Given the description of an element on the screen output the (x, y) to click on. 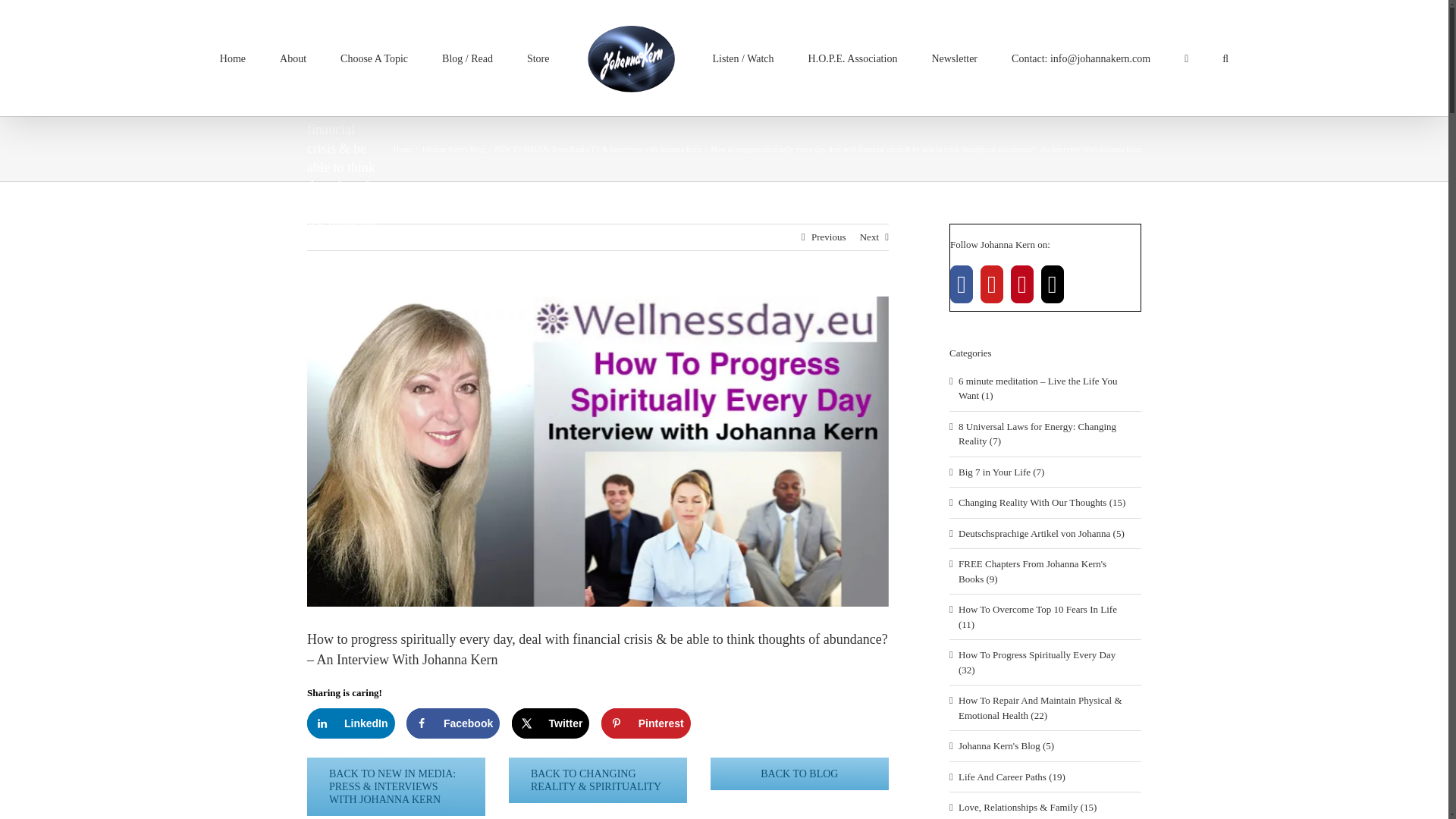
Share on LinkedIn (350, 723)
Share on X (550, 723)
Save to Pinterest (645, 723)
Choose A Topic (373, 57)
H.O.P.E. Association (853, 57)
Share on Facebook (452, 723)
